Given the description of an element on the screen output the (x, y) to click on. 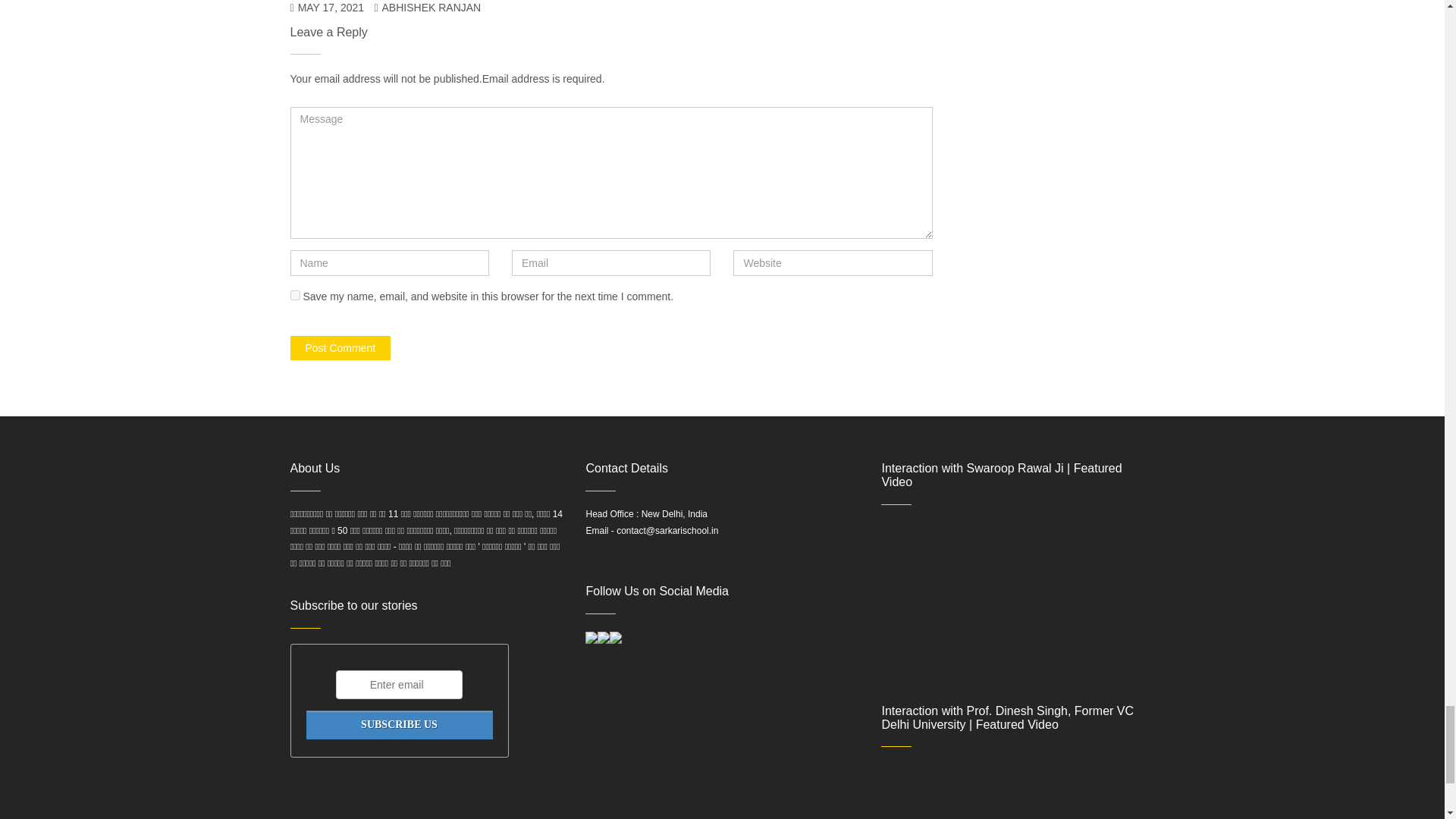
yes (294, 295)
Subscribe Us (399, 724)
Post Comment (339, 347)
